Given the description of an element on the screen output the (x, y) to click on. 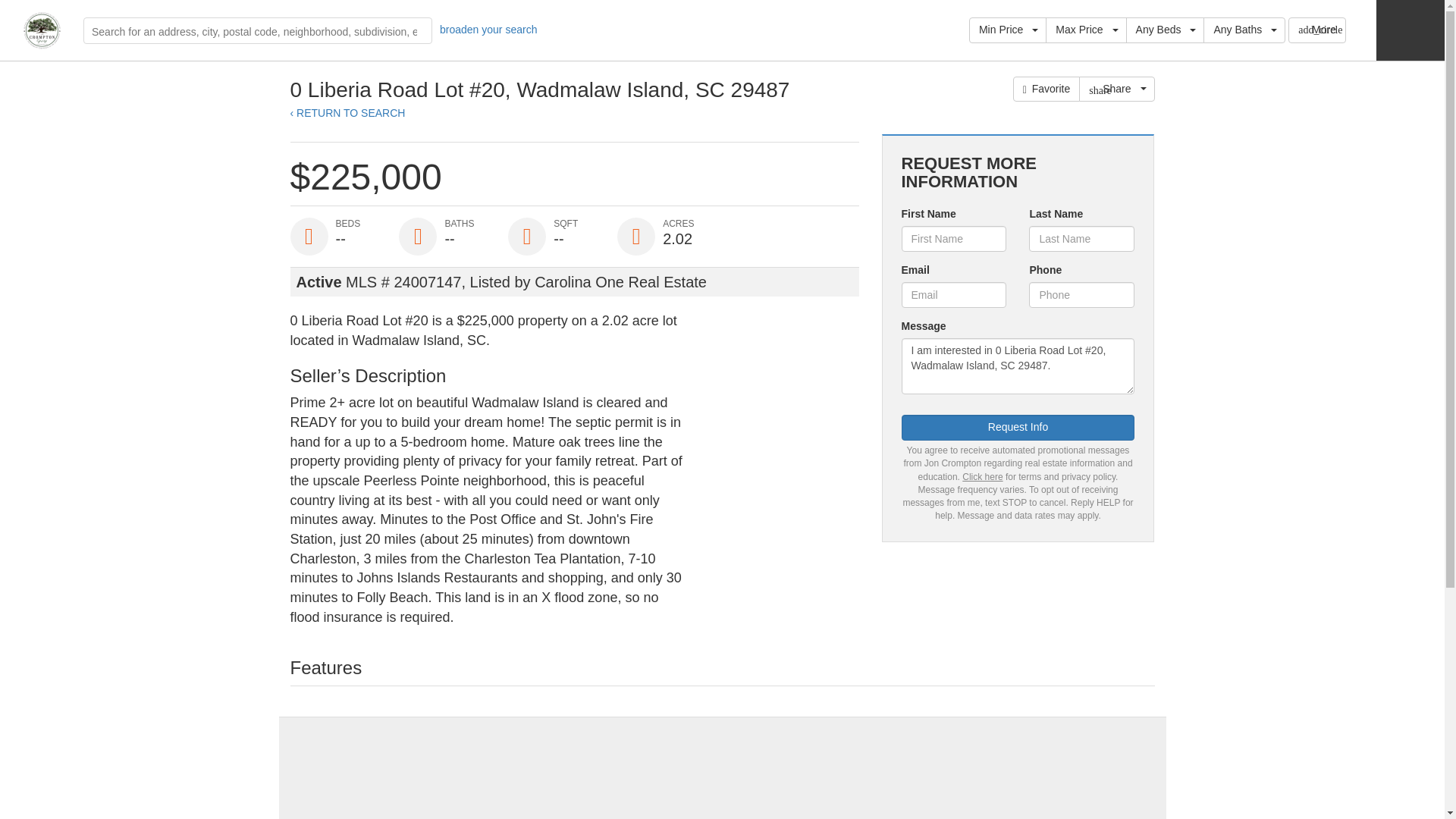
broaden your search (488, 29)
Min Price (1007, 30)
